Given the description of an element on the screen output the (x, y) to click on. 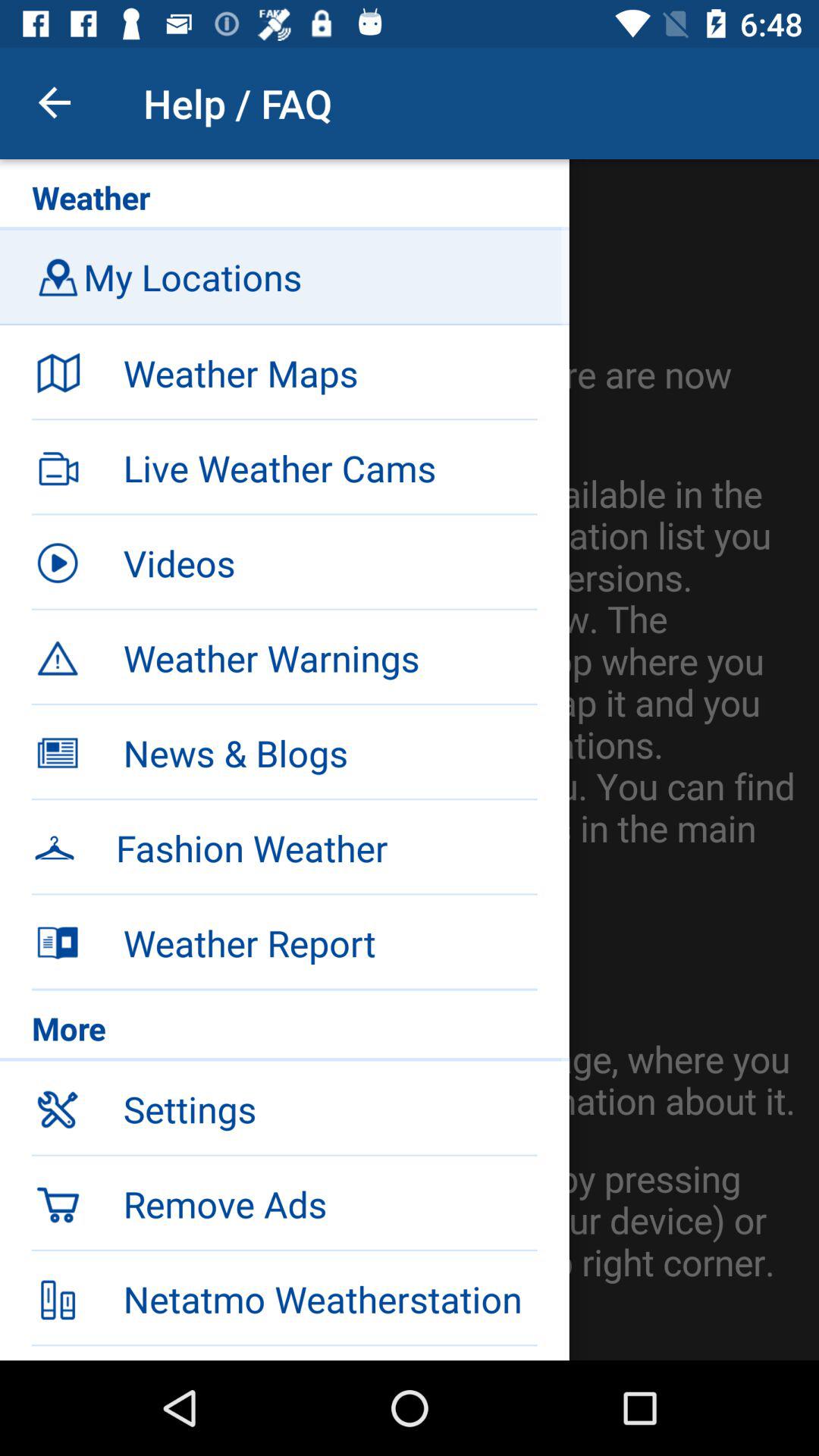
click remove ads icon (330, 1203)
